Given the description of an element on the screen output the (x, y) to click on. 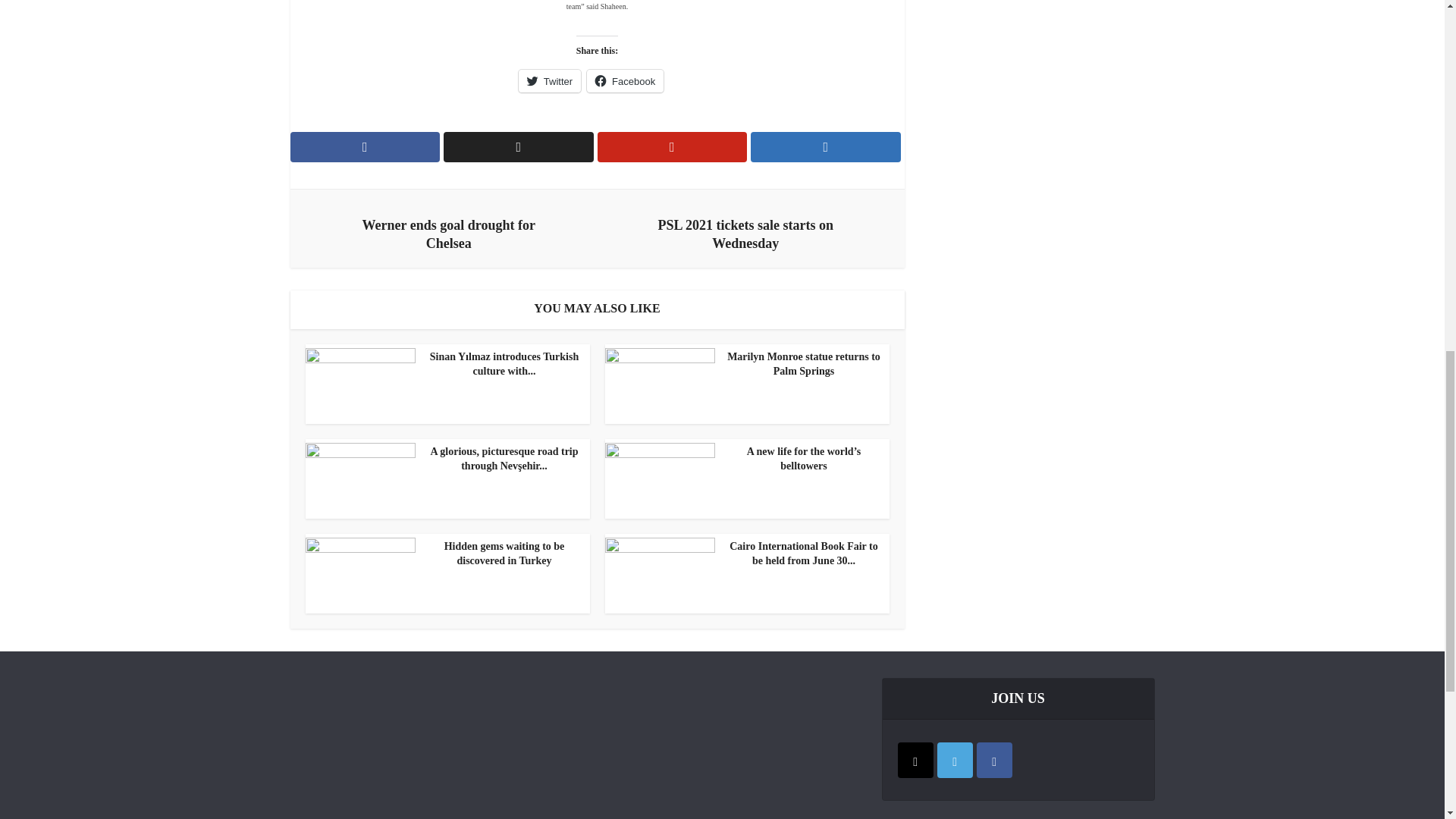
Twitter (549, 80)
Marilyn Monroe statue returns to Palm Springs (743, 364)
Click to share on Facebook (624, 80)
Werner ends goal drought for Chelsea (449, 230)
Facebook (624, 80)
Hidden gems waiting to be discovered in Turkey (442, 553)
Click to share on Twitter (549, 80)
Marilyn Monroe statue returns to Palm Springs (743, 364)
PSL 2021 tickets sale starts on Wednesday (745, 230)
